Given the description of an element on the screen output the (x, y) to click on. 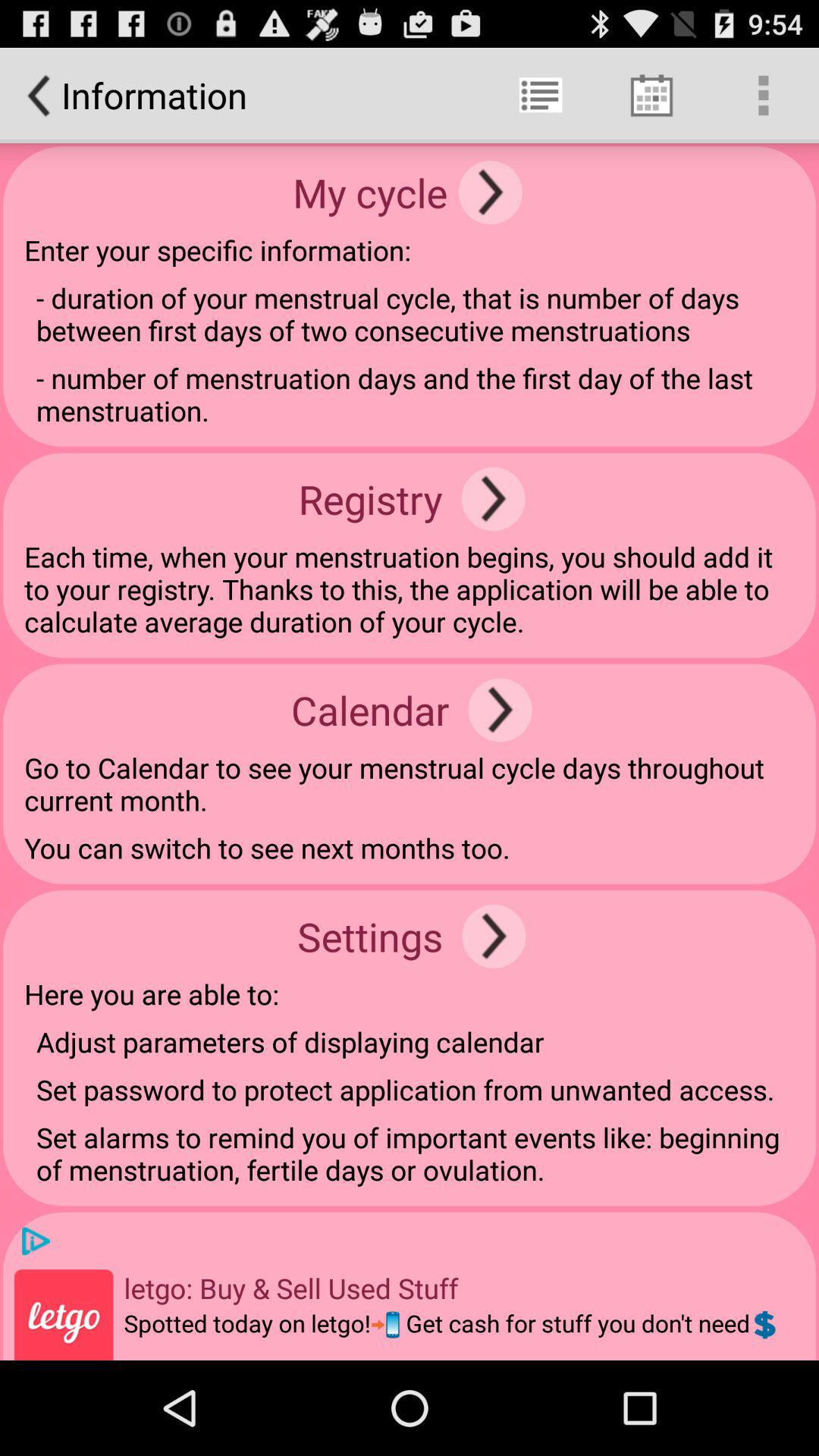
go to page (490, 192)
